Given the description of an element on the screen output the (x, y) to click on. 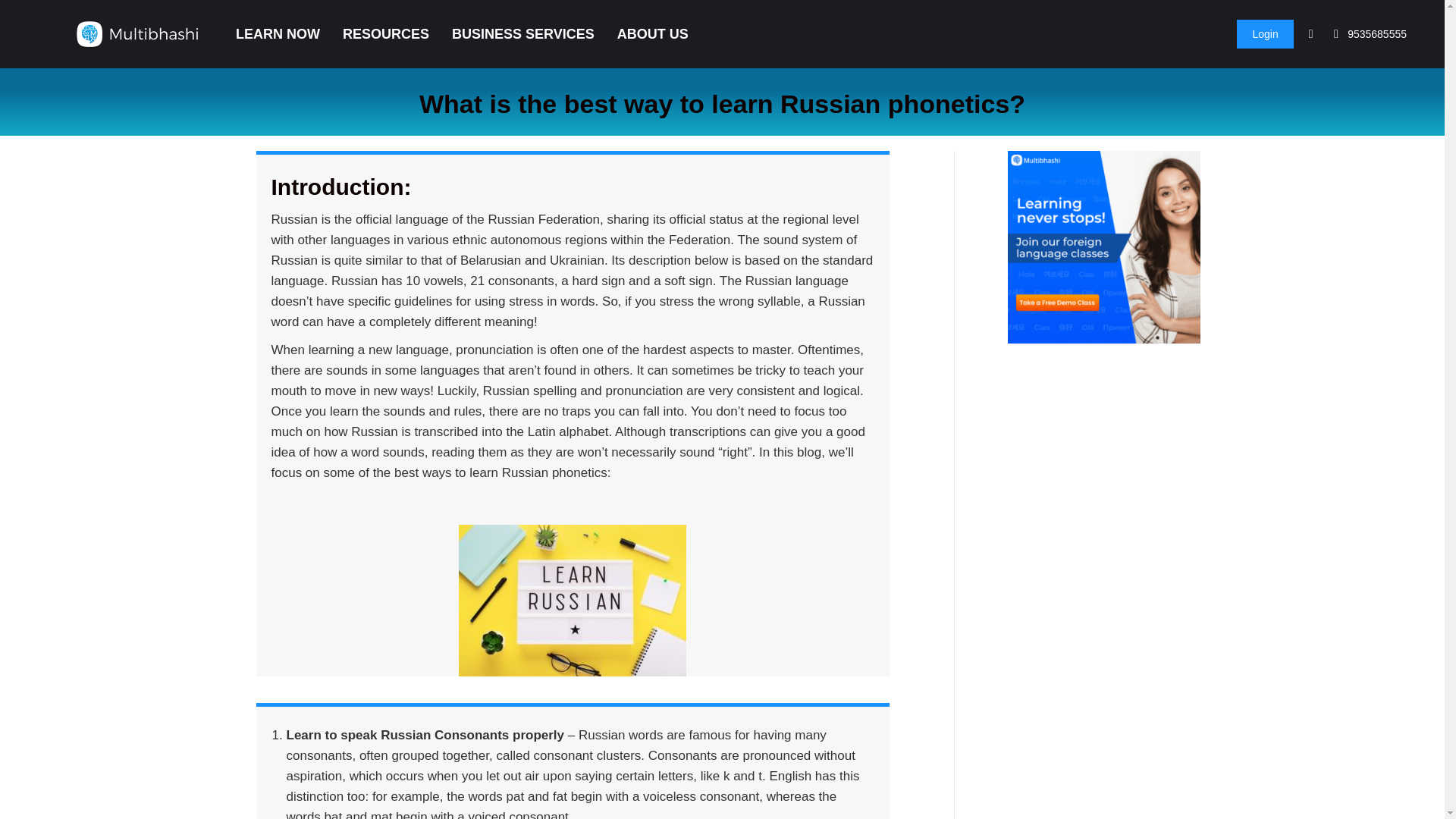
LEARN NOW (277, 34)
WhatsApp Image 2021-04-02 at 3.29.00 PM (571, 600)
RESOURCES (385, 34)
